Given the description of an element on the screen output the (x, y) to click on. 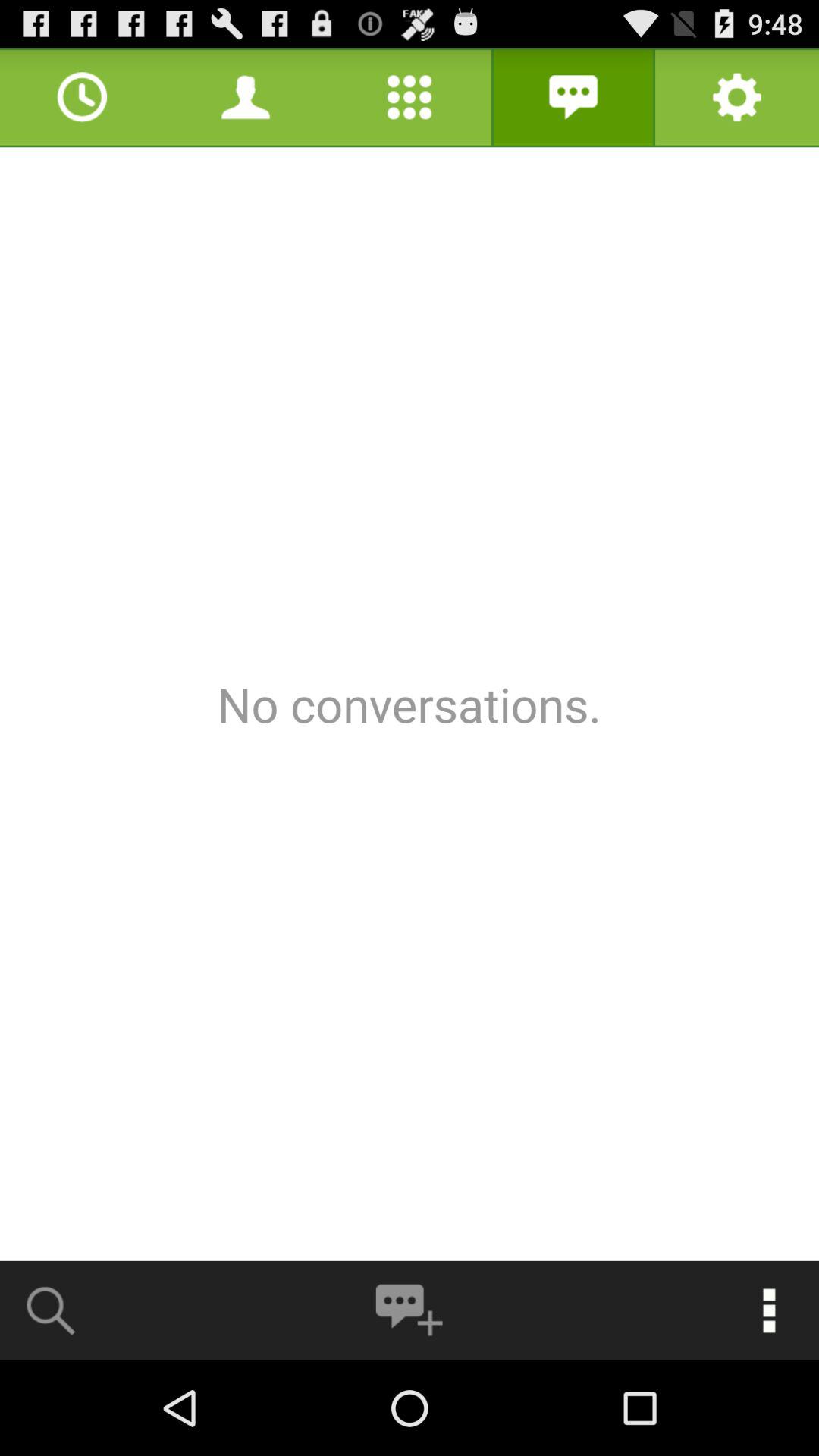
search box (51, 1310)
